Given the description of an element on the screen output the (x, y) to click on. 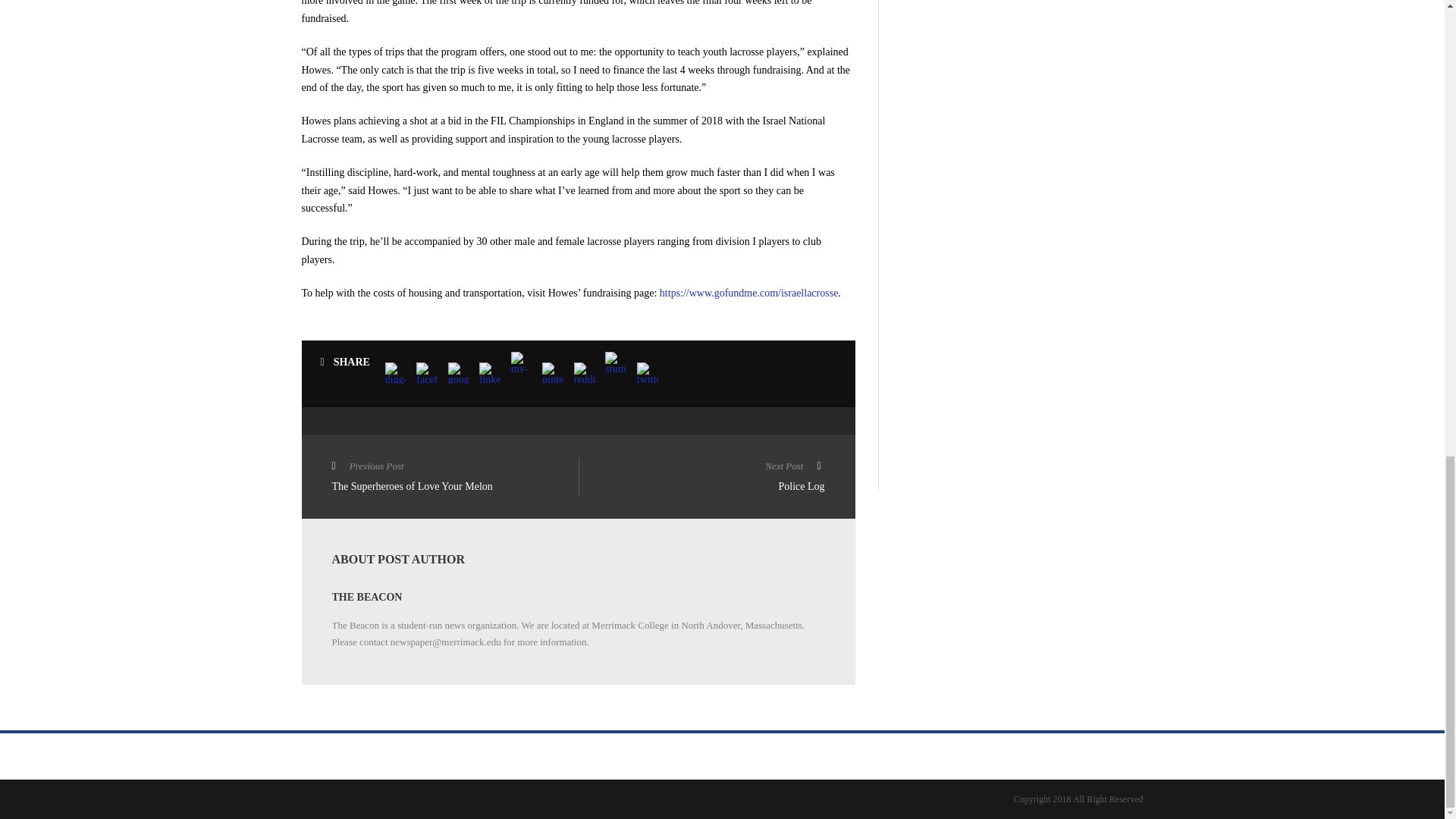
Posts by The Beacon (367, 596)
THE BEACON (454, 478)
